Given the description of an element on the screen output the (x, y) to click on. 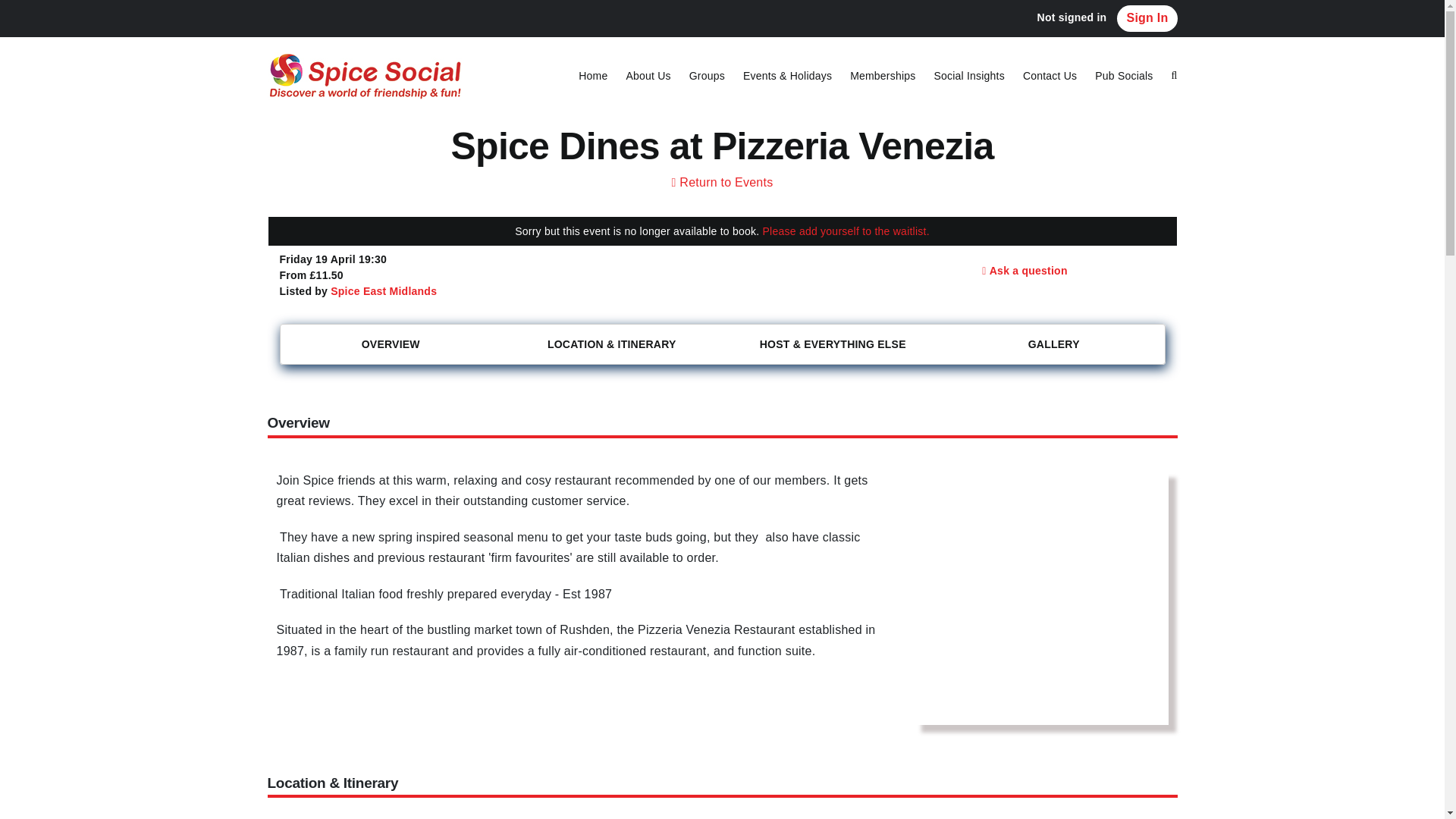
OVERVIEW (390, 344)
Please add yourself to the waitlist. (846, 231)
GALLERY (1053, 344)
Ask a question (1024, 270)
Sign In (1146, 17)
Return to Events (722, 182)
Spice East Midlands (383, 291)
Social Insights (968, 75)
